Given the description of an element on the screen output the (x, y) to click on. 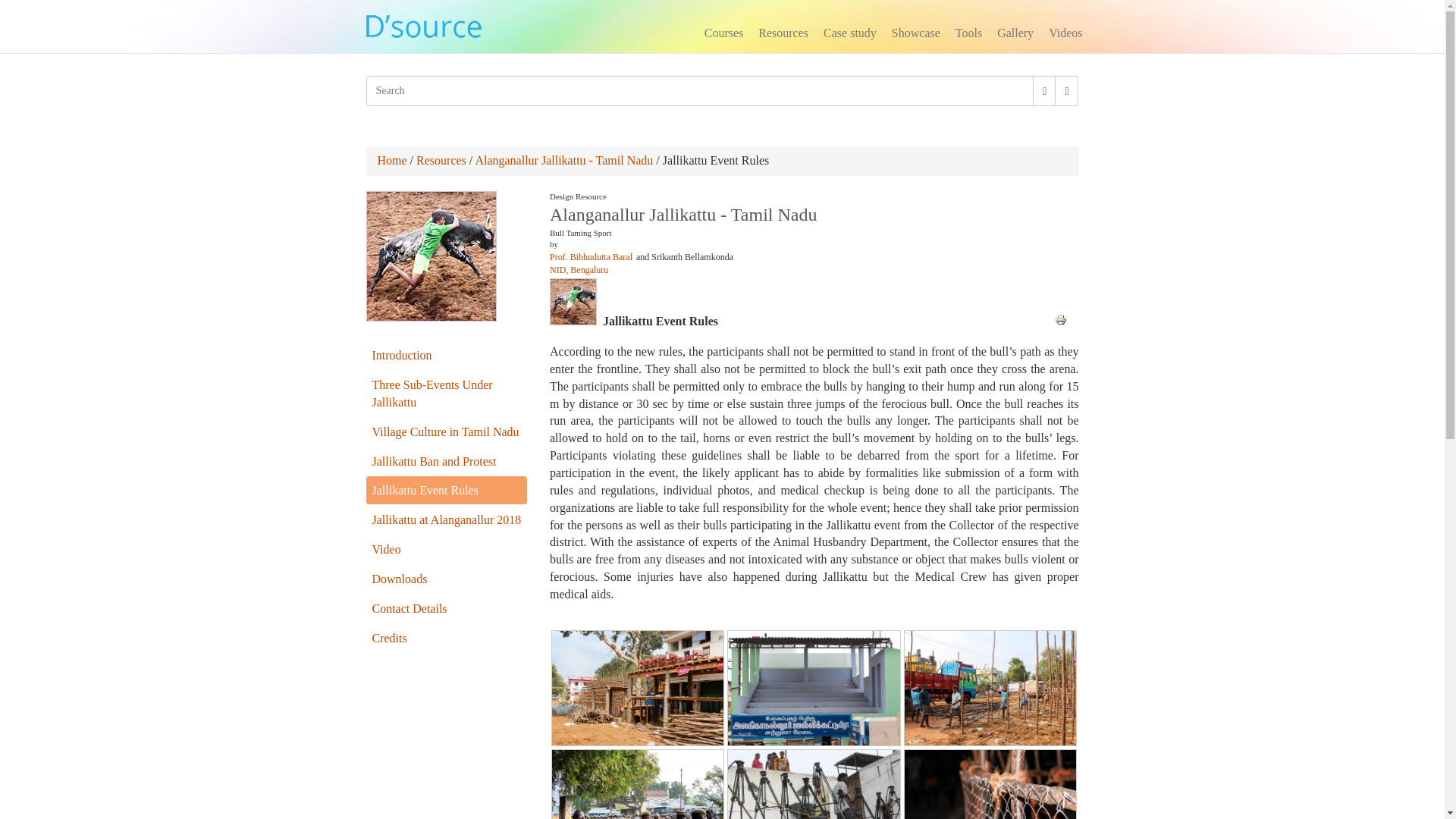
Home (392, 160)
Tools (968, 35)
Courses (724, 35)
Tourist Gallery prepared for foreigners. (812, 686)
Canes are used for building galleries. (990, 686)
Gallery arrangements for spectators. (637, 686)
Gallery arrangements for spectators. (637, 687)
Alanganallur Jallikattu - Tamil Nadu (563, 160)
Showcase (915, 35)
Resources (783, 35)
